Given the description of an element on the screen output the (x, y) to click on. 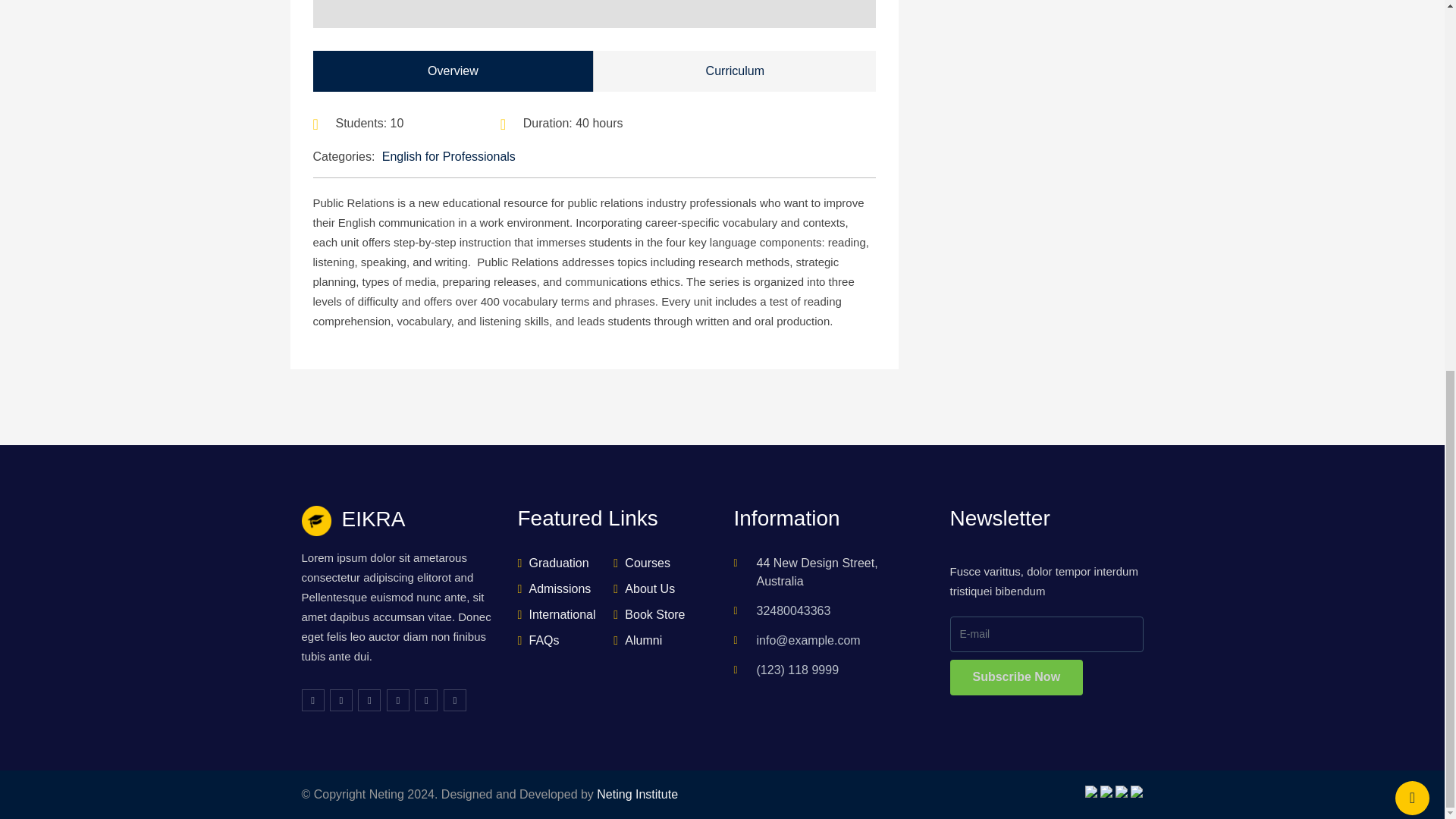
Subscribe Now (1016, 677)
